Given the description of an element on the screen output the (x, y) to click on. 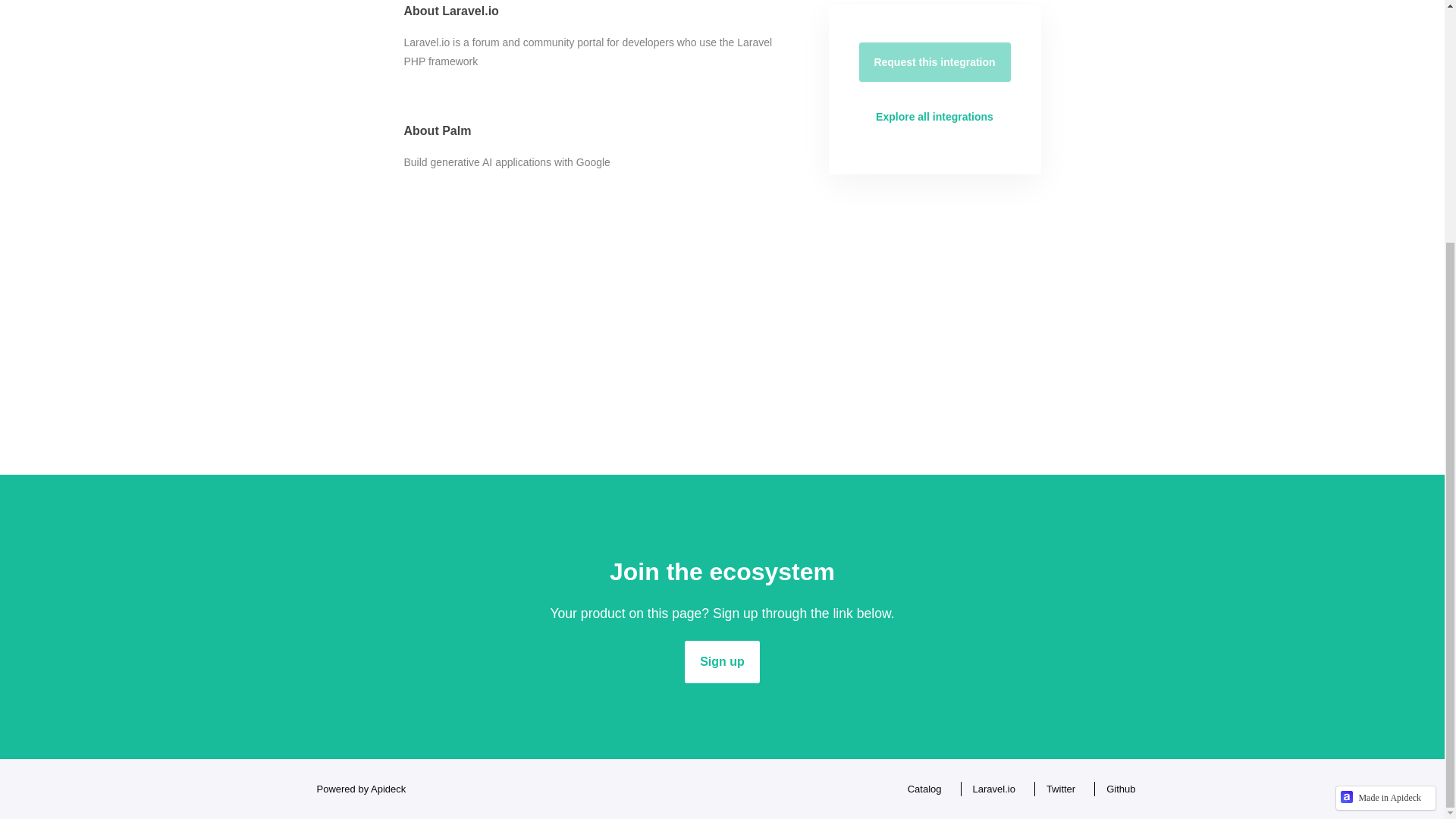
Twitter (1056, 789)
Github (1116, 789)
Explore all integrations (934, 116)
Request this integration (934, 61)
Laravel.io (989, 789)
Sign up (722, 661)
Powered by Apideck (356, 789)
Catalog (920, 789)
